Given the description of an element on the screen output the (x, y) to click on. 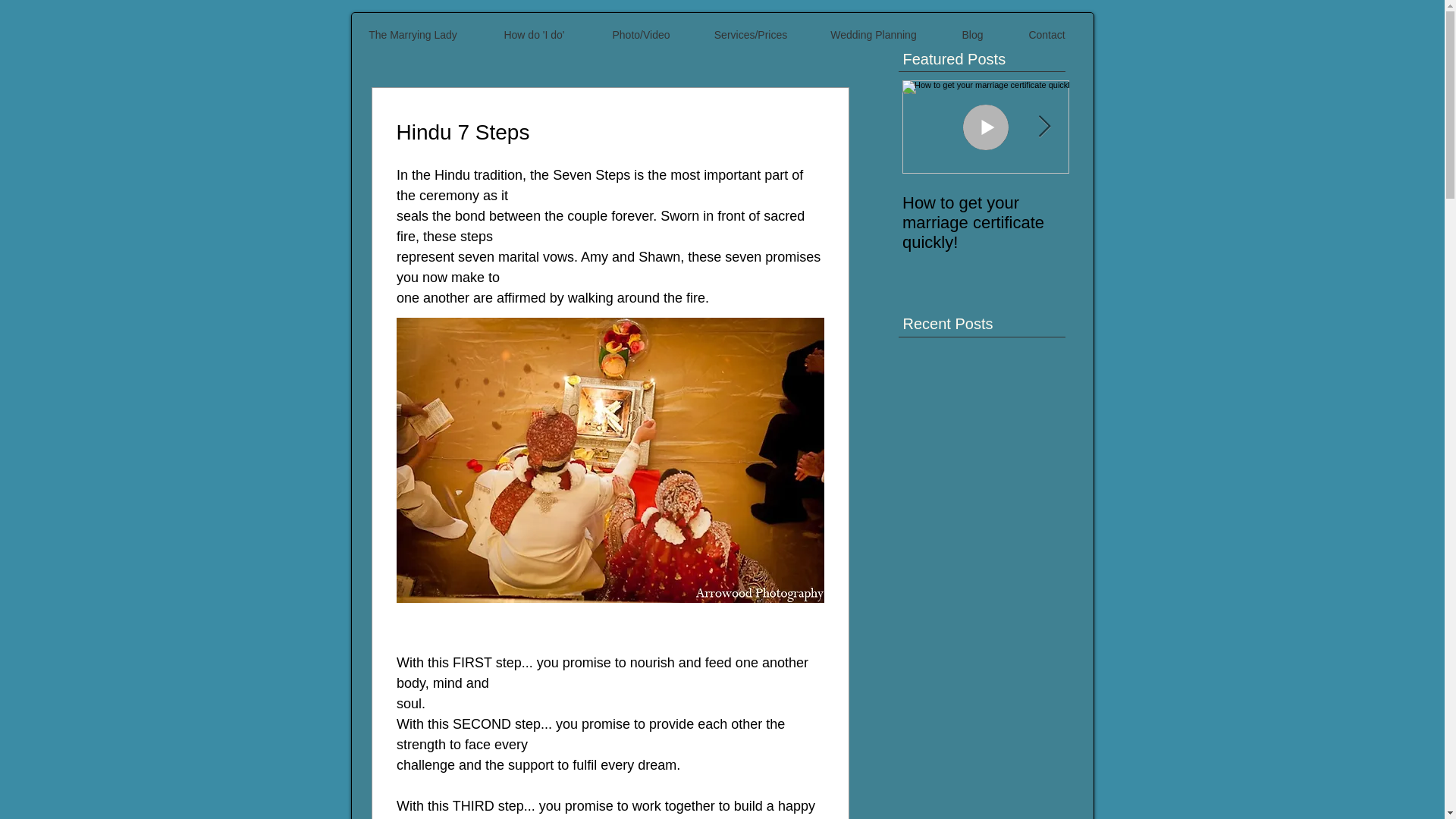
The Marrying Lady (412, 35)
How to get married in Ontario (1152, 212)
How do 'I do' (533, 35)
How to get your marriage certificate quickly! (985, 222)
